Given the description of an element on the screen output the (x, y) to click on. 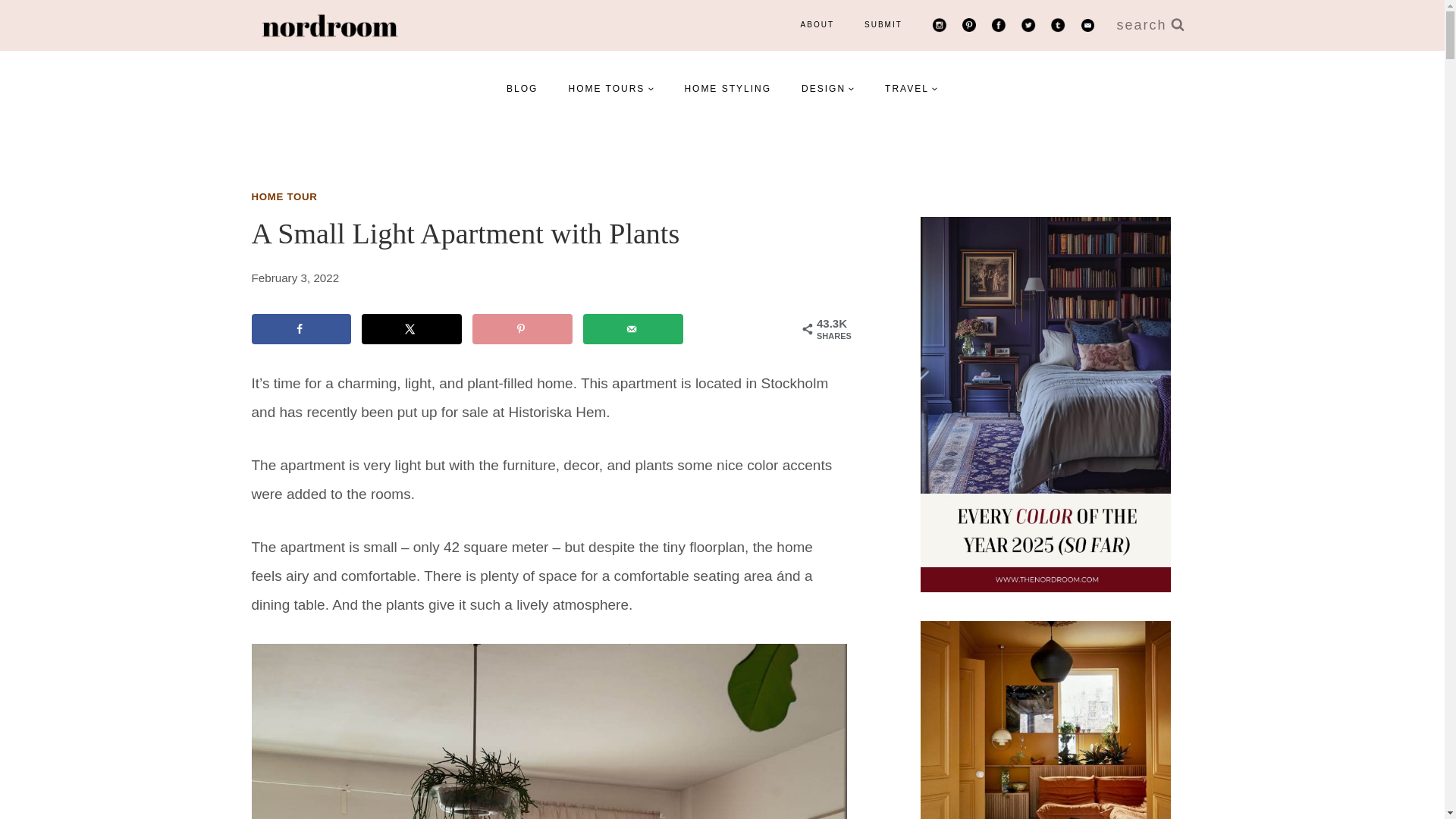
DESIGN (827, 87)
ABOUT (817, 24)
Save to Pinterest (521, 328)
A Small Light Apartment with Plants 1 (549, 731)
HOME TOURS (610, 87)
Send over email (632, 328)
HOME STYLING (727, 87)
SUBMIT (882, 24)
search (1150, 25)
Share on X (411, 328)
